Given the description of an element on the screen output the (x, y) to click on. 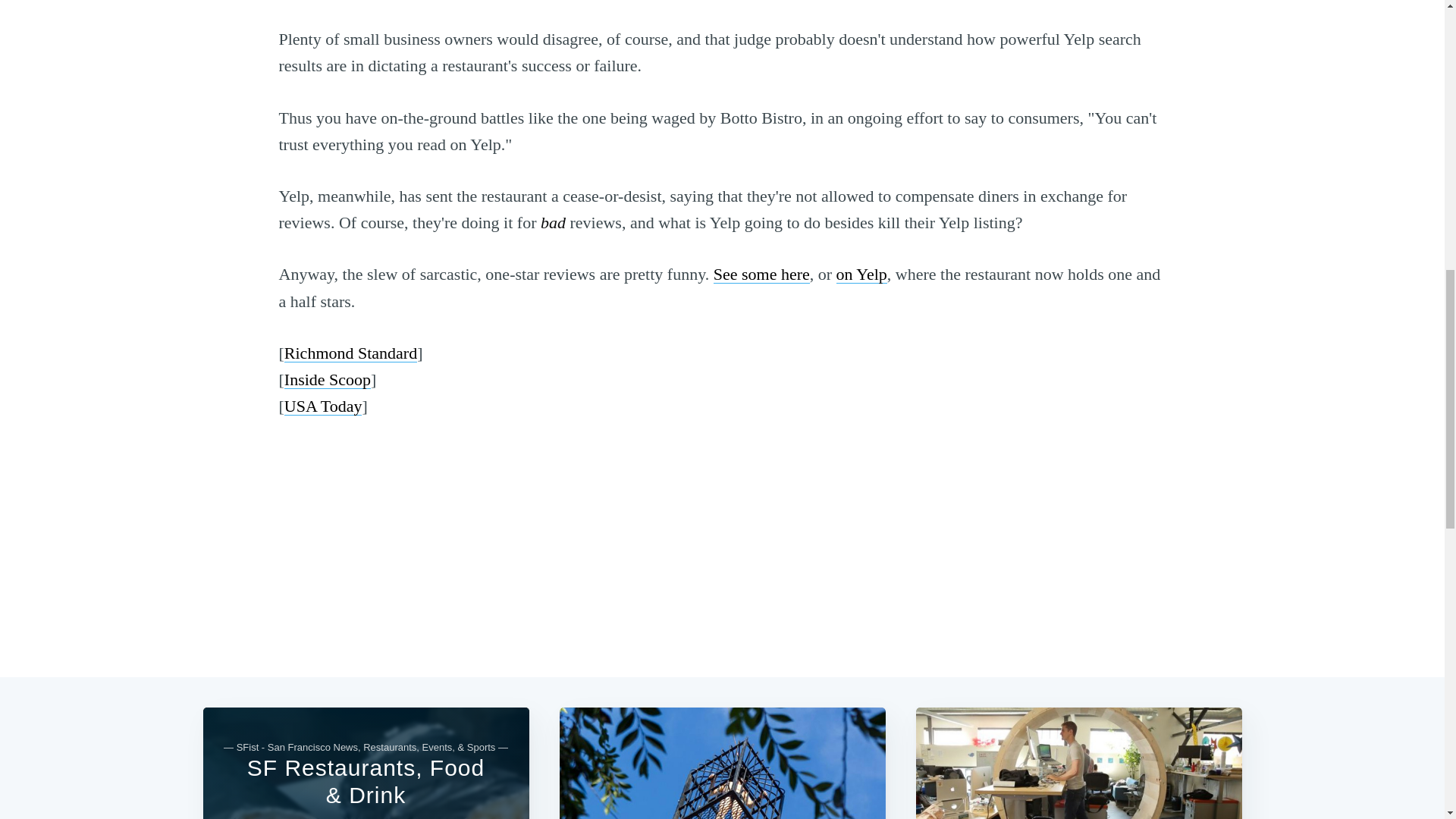
Inside Scoop (327, 379)
on Yelp (860, 273)
See some here (761, 273)
USA Today (322, 405)
Richmond Standard (349, 352)
